Given the description of an element on the screen output the (x, y) to click on. 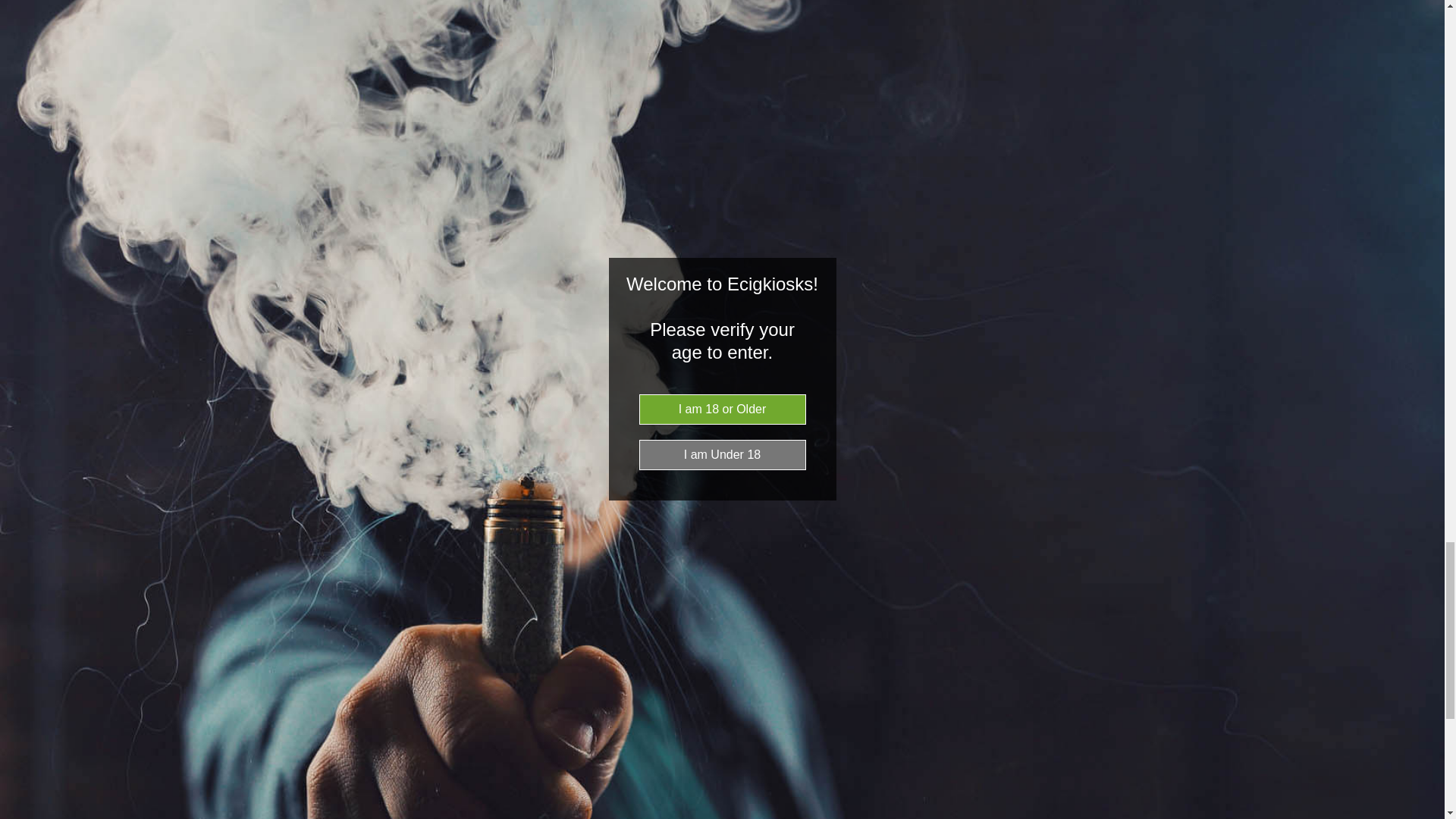
General Enquiry Form (794, 814)
Review Form (721, 478)
